Given the description of an element on the screen output the (x, y) to click on. 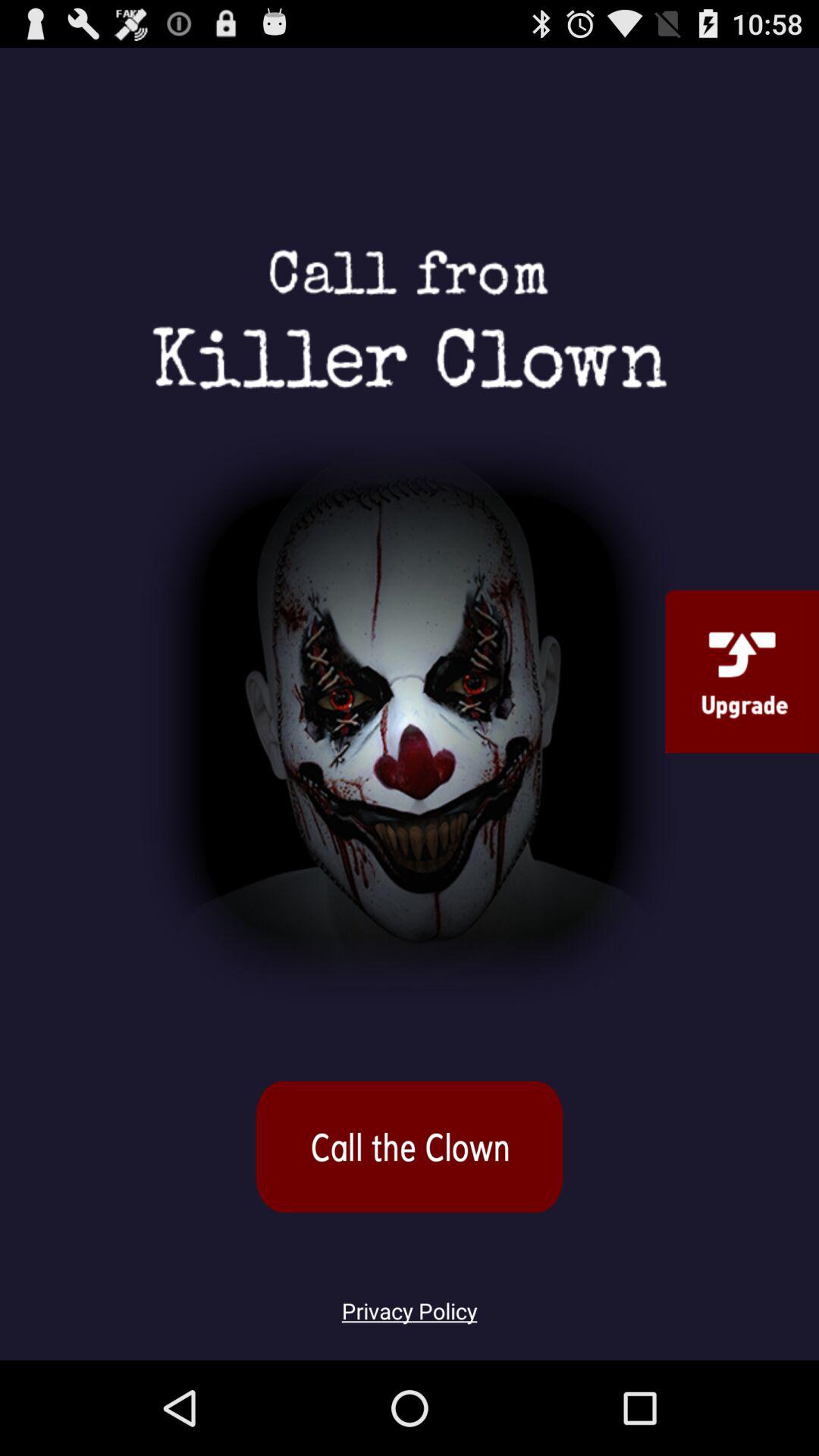
trigger call (409, 1146)
